Given the description of an element on the screen output the (x, y) to click on. 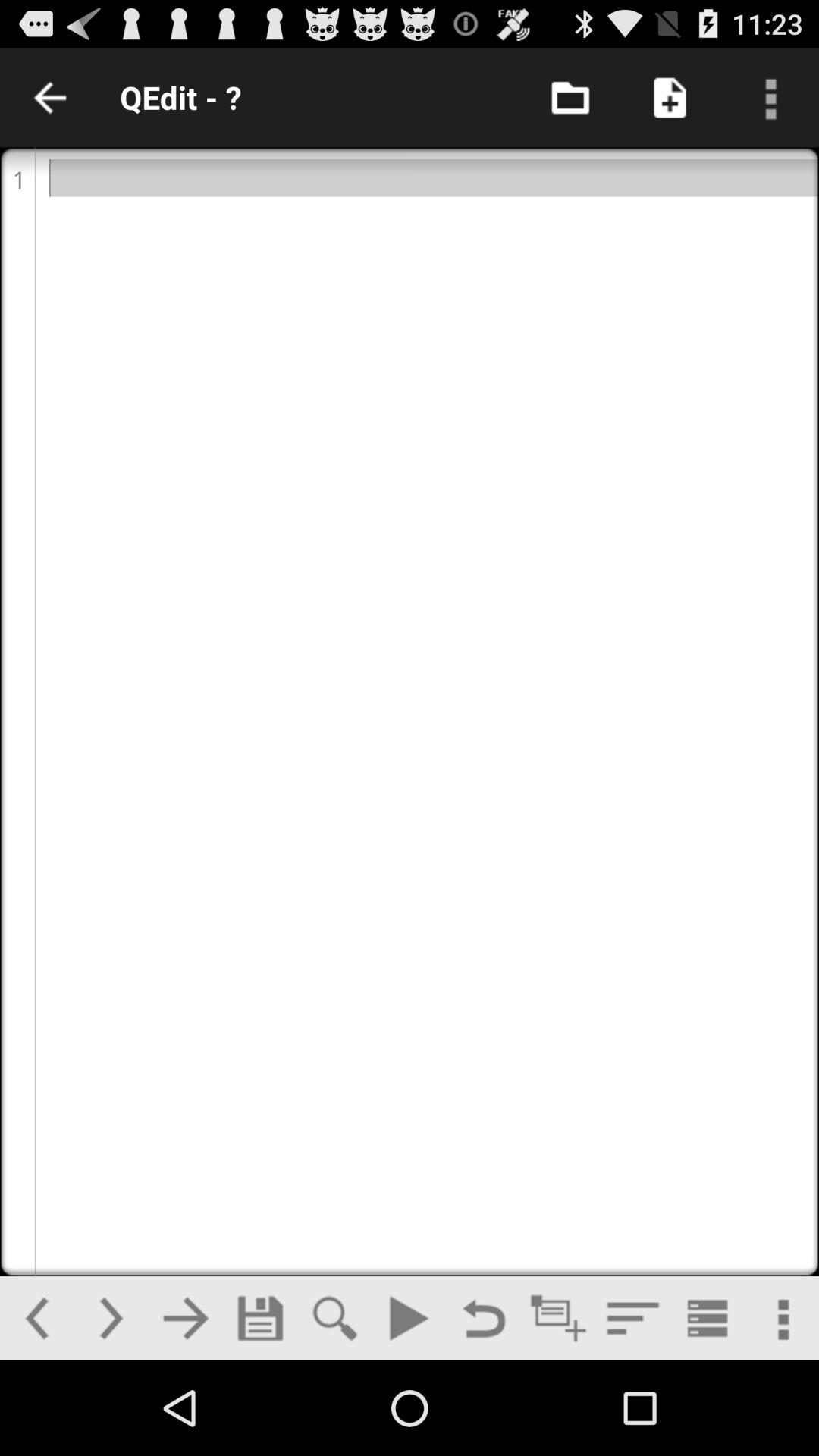
add text field (557, 1318)
